Given the description of an element on the screen output the (x, y) to click on. 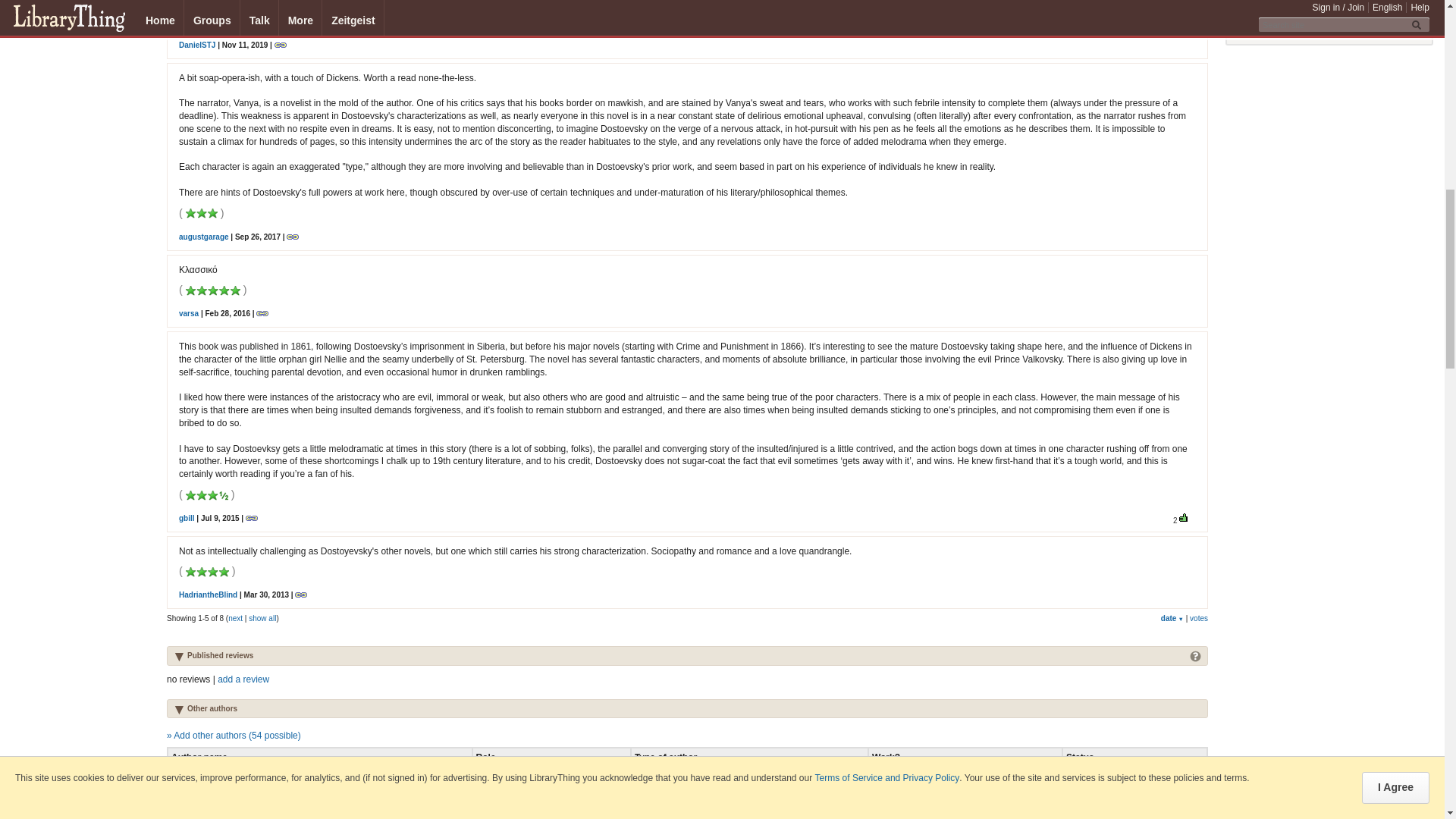
Help (1195, 654)
2 members found this review helpful (1184, 517)
